Given the description of an element on the screen output the (x, y) to click on. 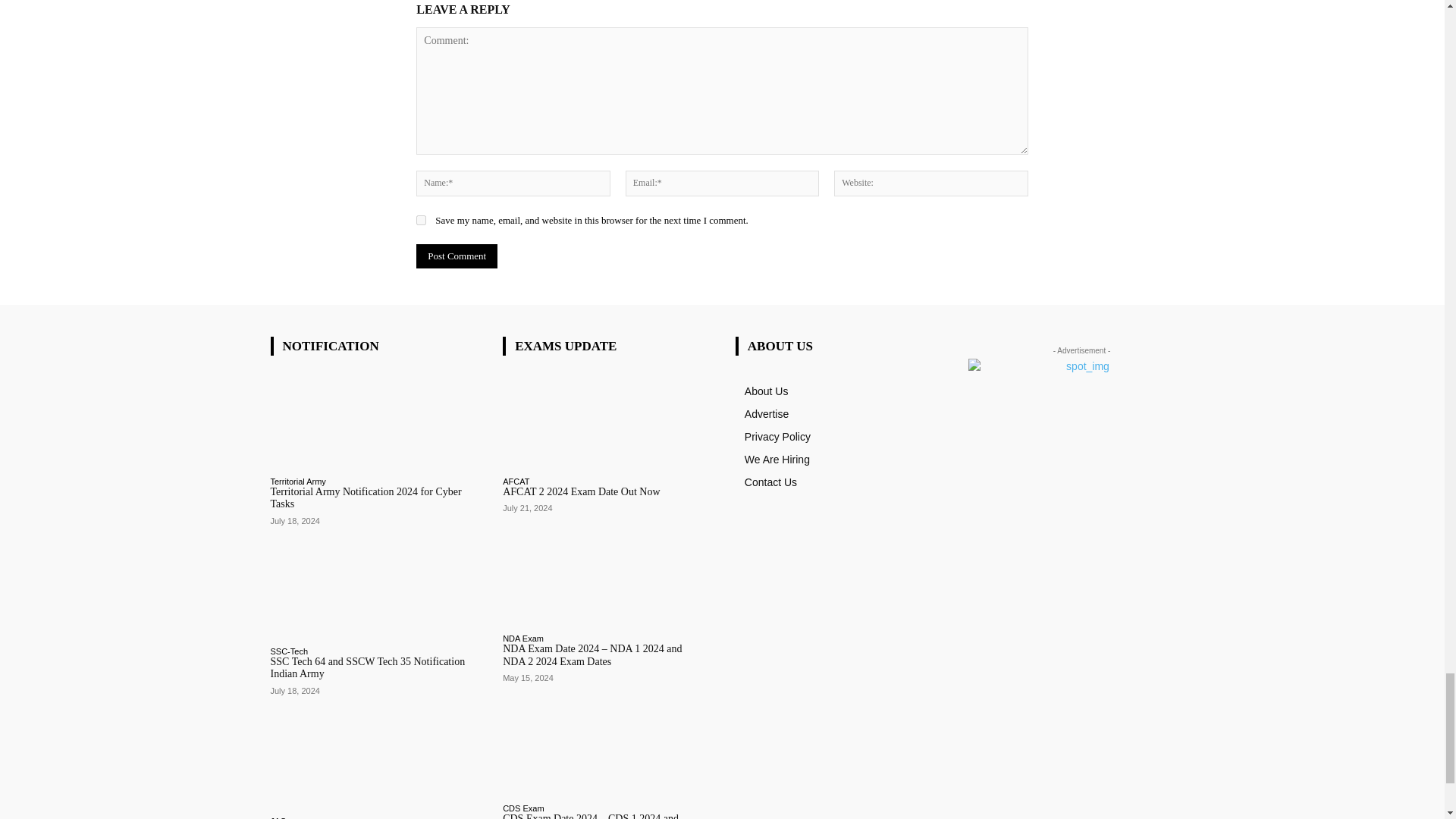
yes (421, 220)
Post Comment (456, 256)
